Given the description of an element on the screen output the (x, y) to click on. 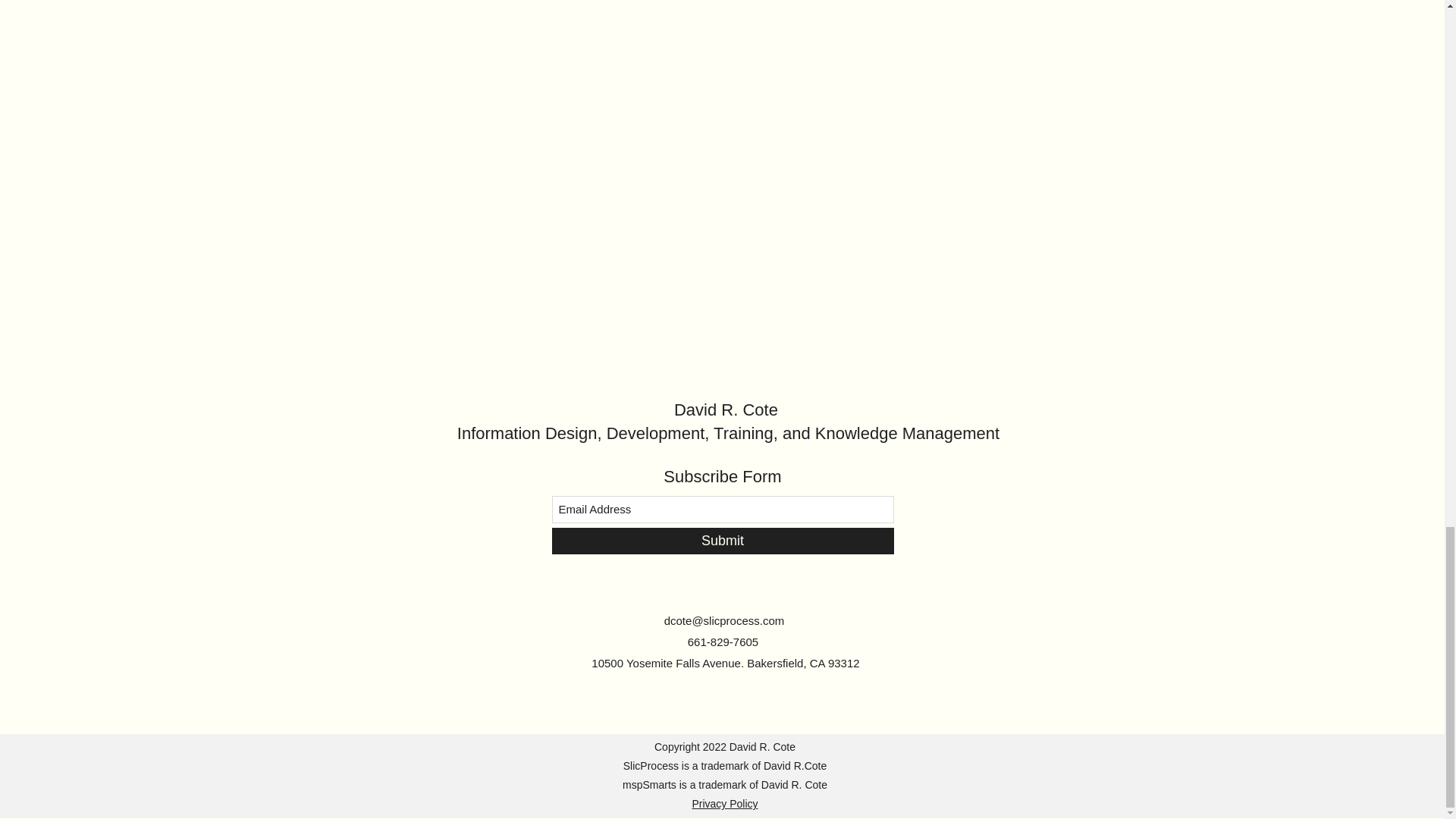
Submit (722, 540)
Privacy Policy (724, 803)
